Given the description of an element on the screen output the (x, y) to click on. 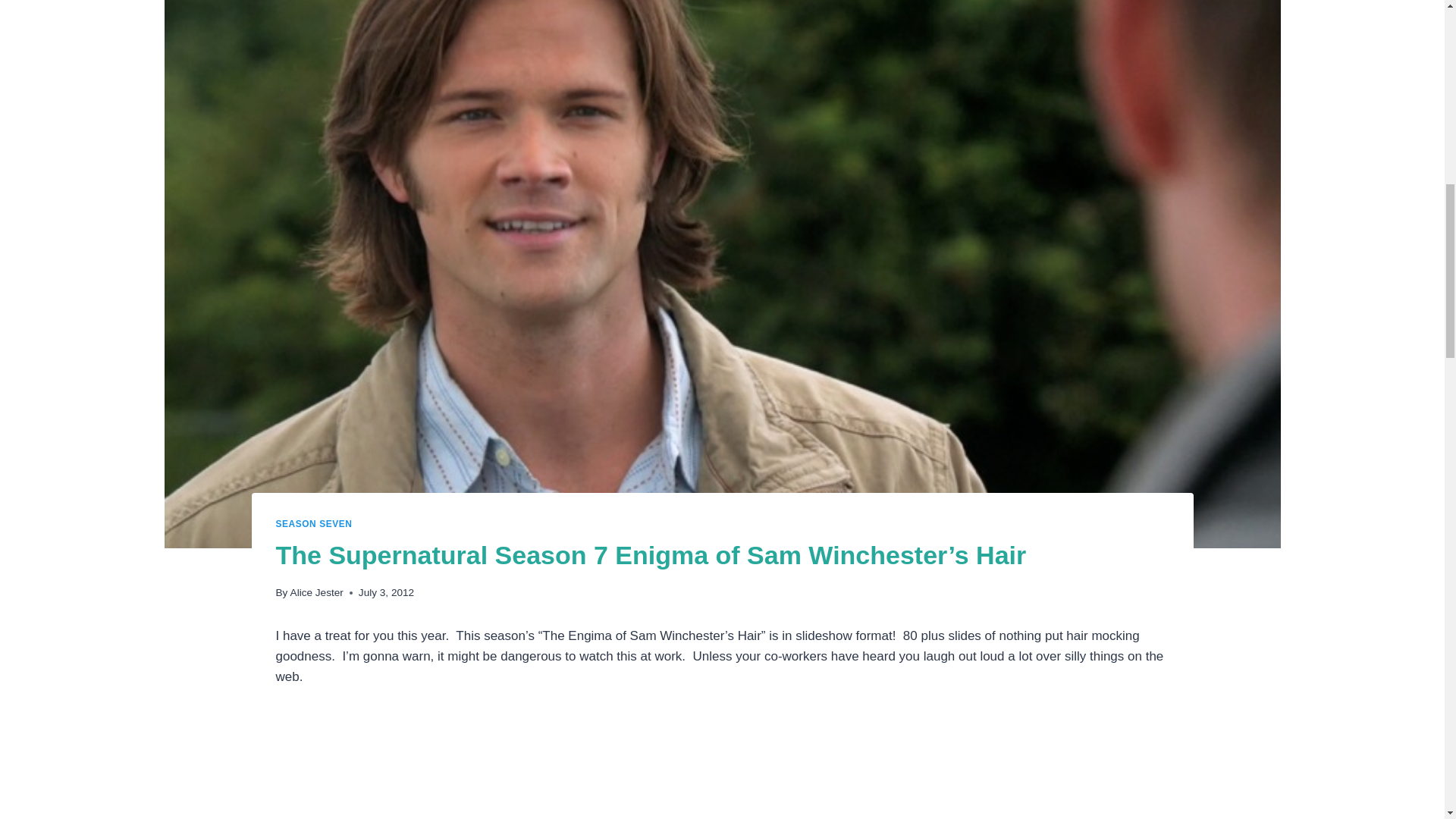
Alice Jester (316, 592)
SEASON SEVEN (314, 523)
